Given the description of an element on the screen output the (x, y) to click on. 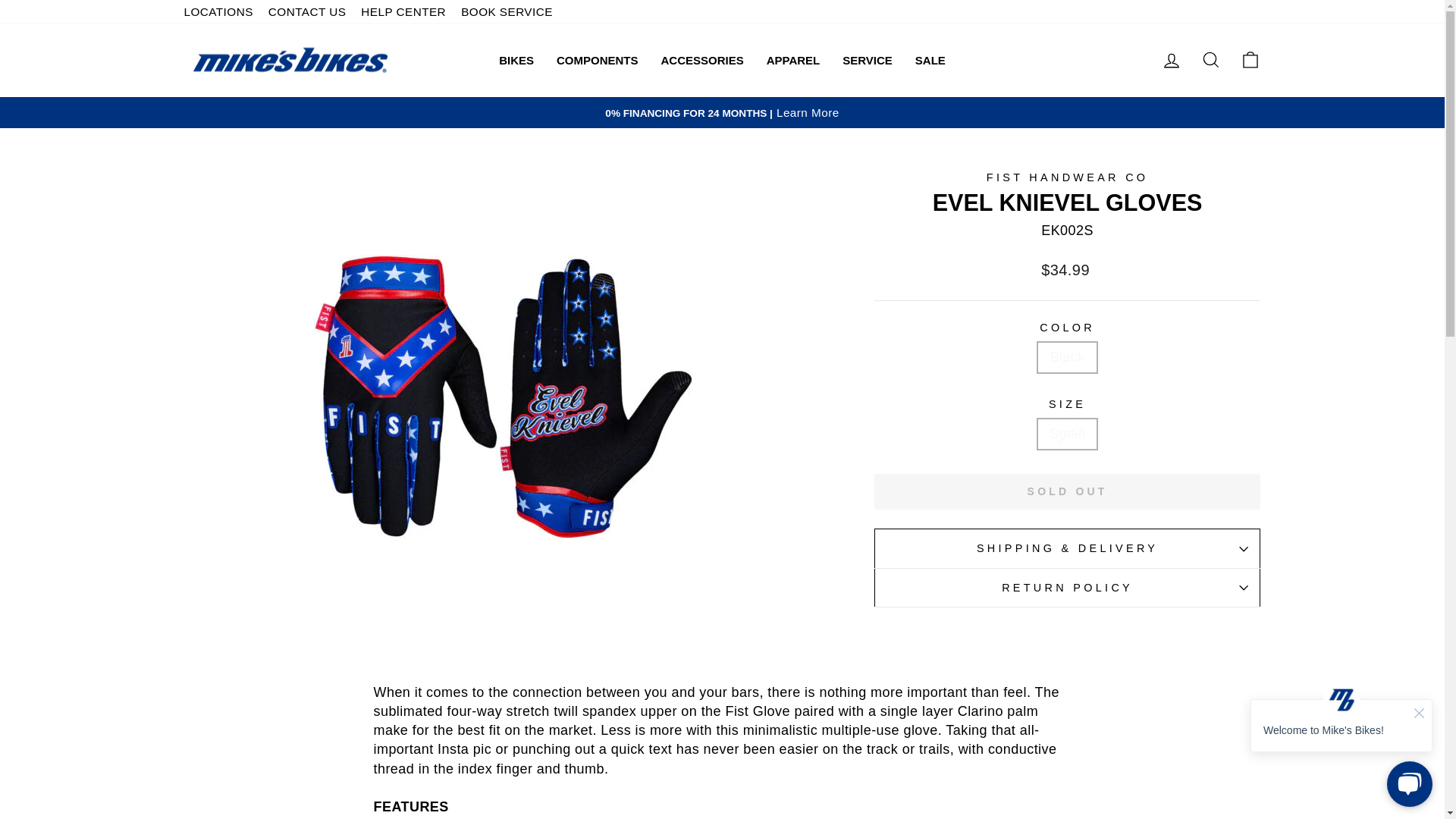
Fist Handwear Co (1067, 177)
